Given the description of an element on the screen output the (x, y) to click on. 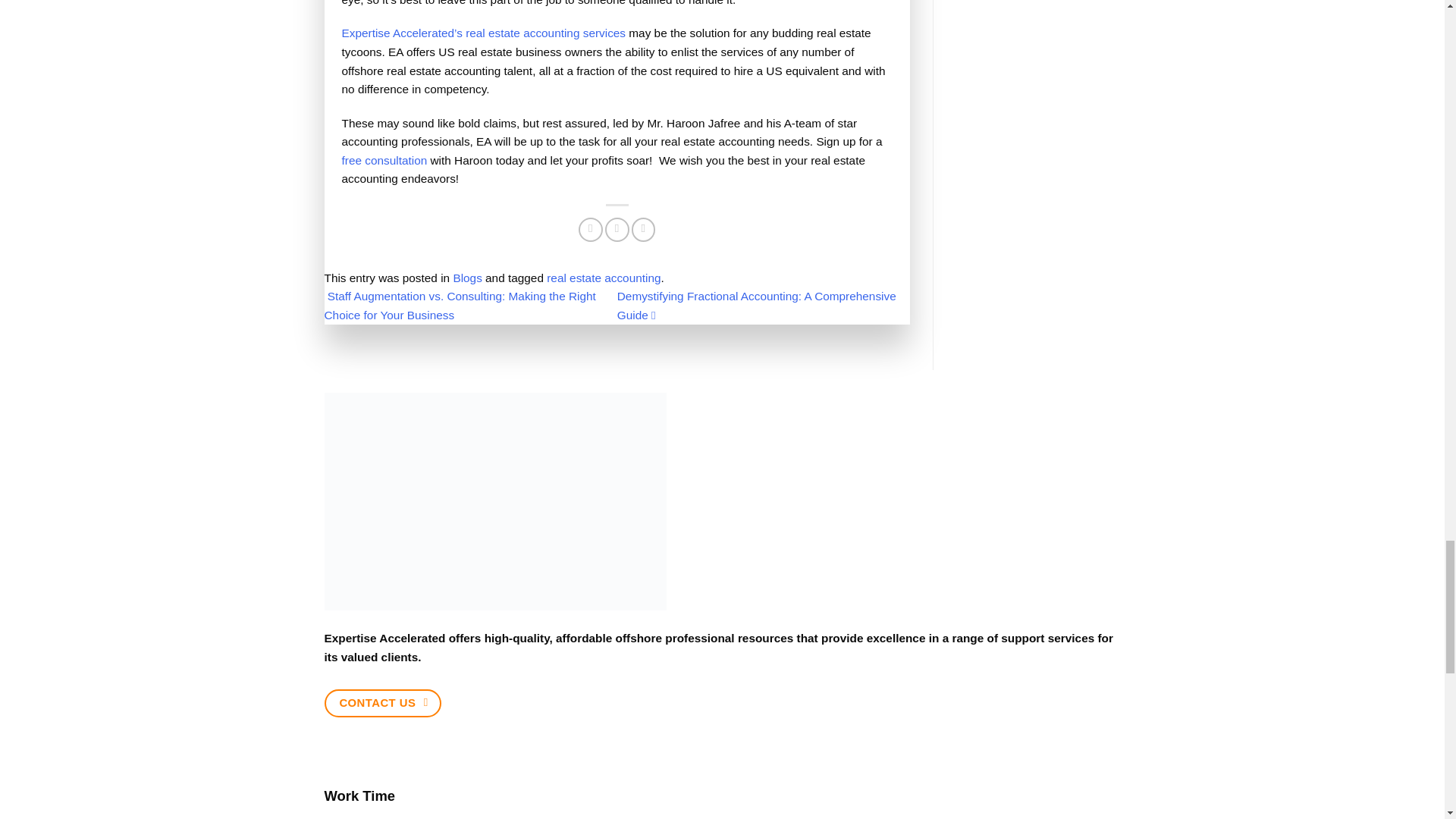
Share on LinkedIn (643, 229)
Share on Facebook (590, 229)
Email to a Friend (616, 229)
